Given the description of an element on the screen output the (x, y) to click on. 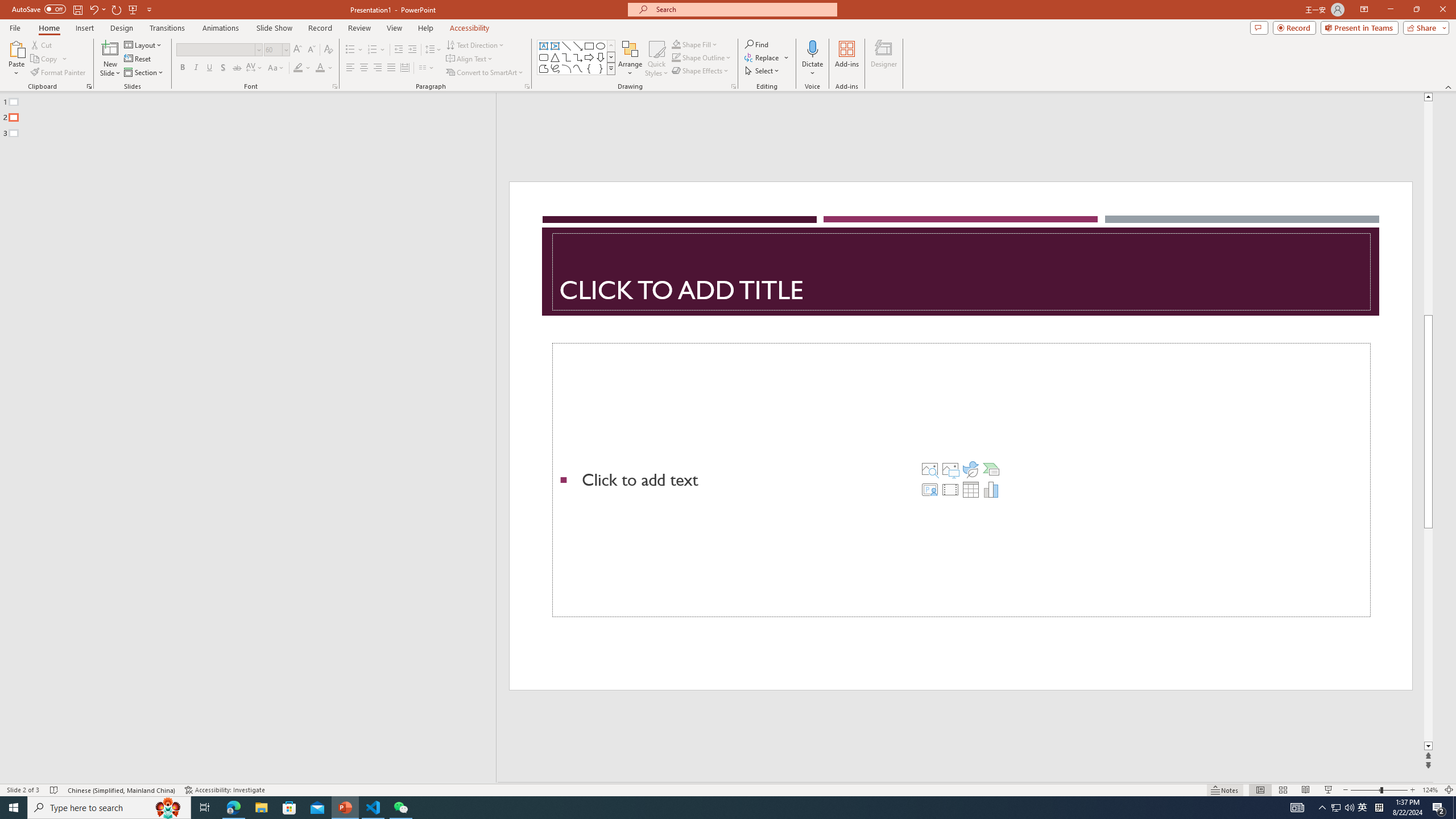
Title TextBox (960, 271)
Pictures (949, 469)
